Given the description of an element on the screen output the (x, y) to click on. 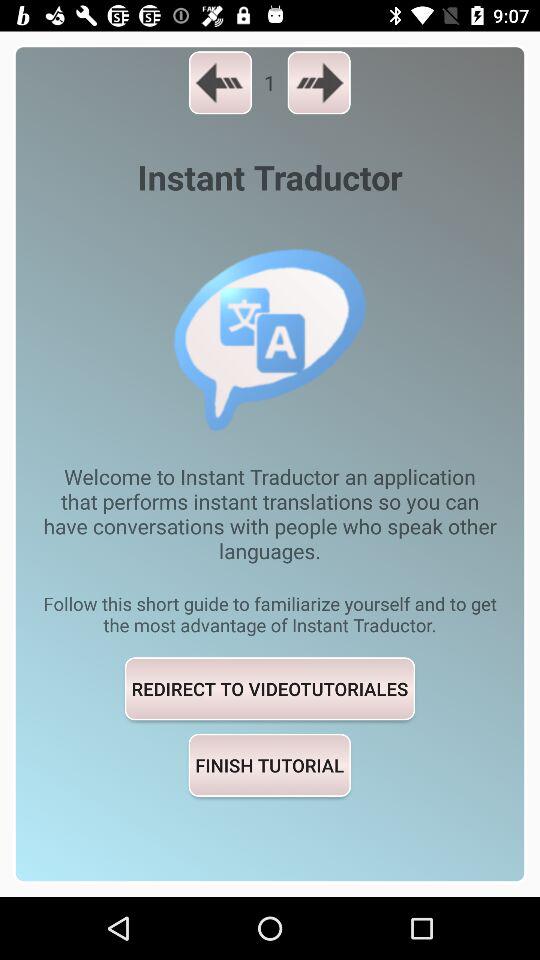
turn on the icon below the follow this short icon (269, 688)
